Given the description of an element on the screen output the (x, y) to click on. 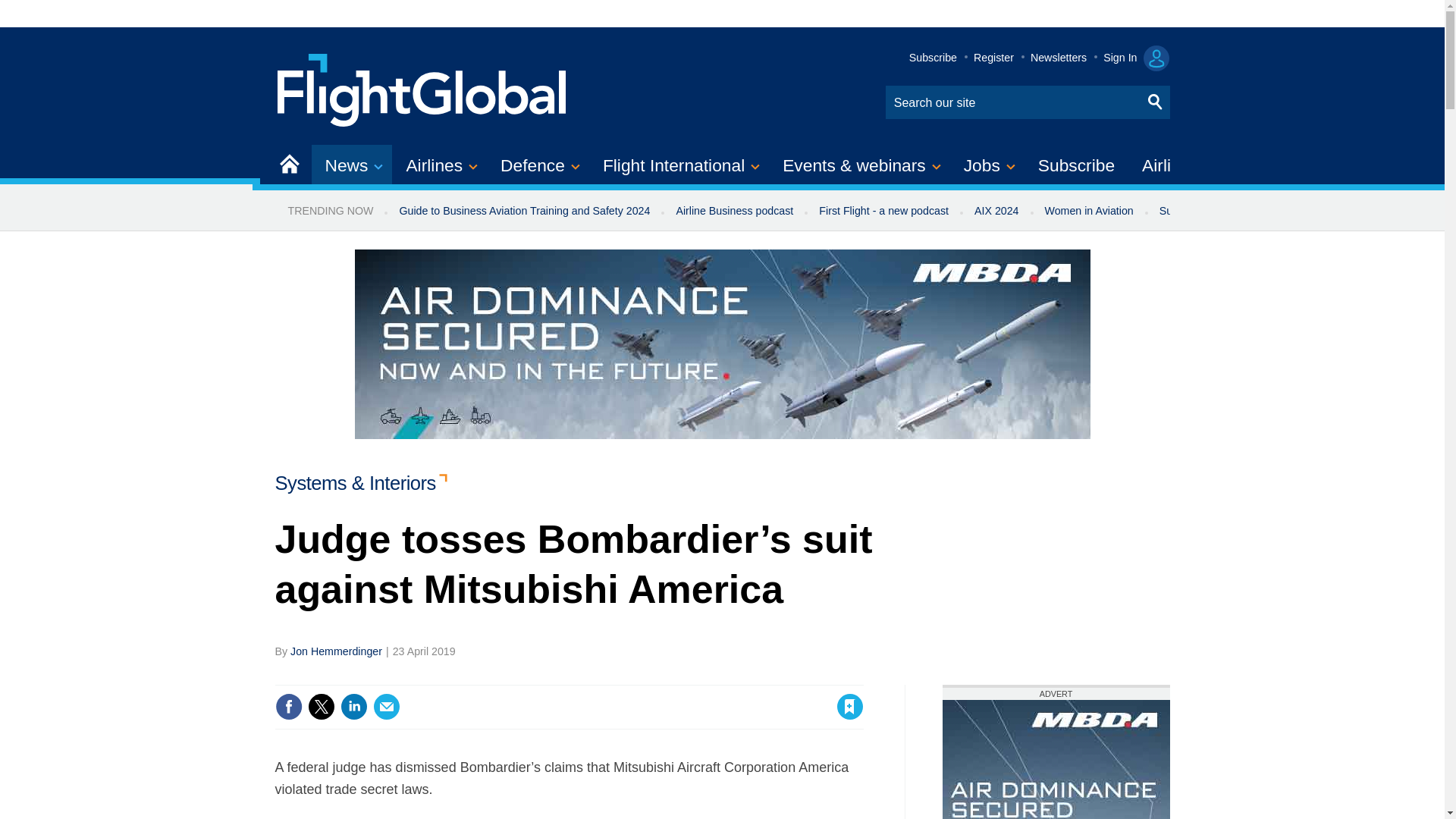
Share this on Facebook (288, 706)
First Flight - a new podcast (883, 210)
AIX 2024 (996, 210)
Guide to Business Aviation Training and Safety 2024 (523, 210)
Email this article (386, 706)
Women in Aviation (1089, 210)
Share this on Twitter (320, 706)
Site name (422, 88)
Share this on Linked in (352, 706)
Airline Business podcast (734, 210)
3rd party ad content (1055, 759)
Sustainable Aviation newsletter (1234, 210)
